Given the description of an element on the screen output the (x, y) to click on. 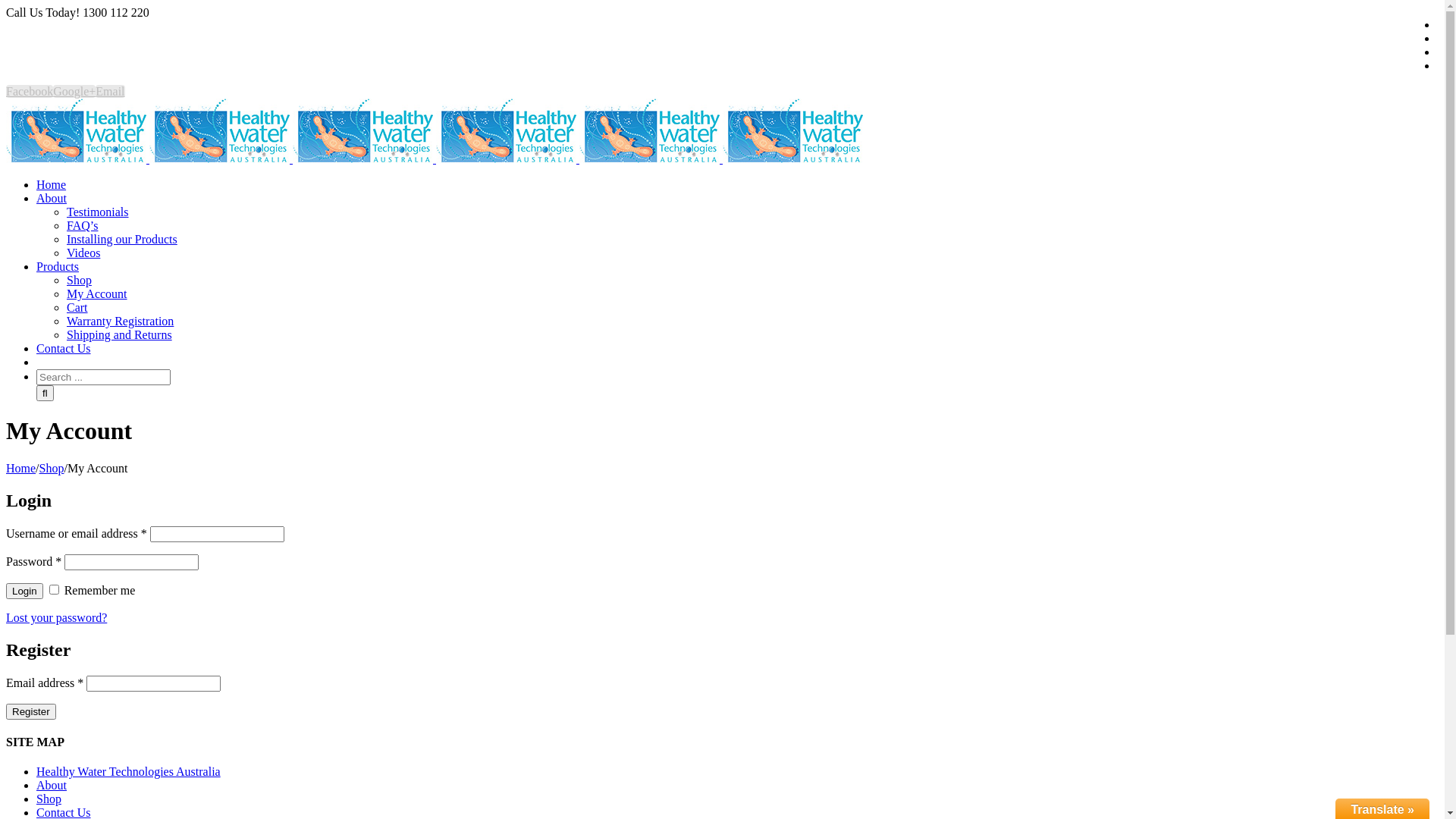
Installing our Products Element type: text (121, 238)
Warranty Registration Element type: text (119, 320)
Shop Element type: text (78, 279)
Lost your password? Element type: text (56, 617)
Contact Us Element type: text (63, 348)
Home Element type: text (50, 184)
Healthy Water Technologies Australia Element type: text (128, 771)
My Account Element type: text (96, 293)
Shop Element type: text (51, 467)
Videos Element type: text (83, 252)
Facebook Element type: text (29, 90)
Shipping and Returns Element type: text (119, 334)
Home Element type: text (20, 467)
Shop Element type: text (48, 798)
Register Element type: text (31, 711)
About Element type: text (51, 784)
Testimonials Element type: text (97, 211)
Cart Element type: text (76, 307)
Google+ Element type: text (74, 90)
About Element type: text (51, 197)
Login Element type: text (24, 591)
Email Element type: text (109, 90)
Products Element type: text (57, 266)
